Given the description of an element on the screen output the (x, y) to click on. 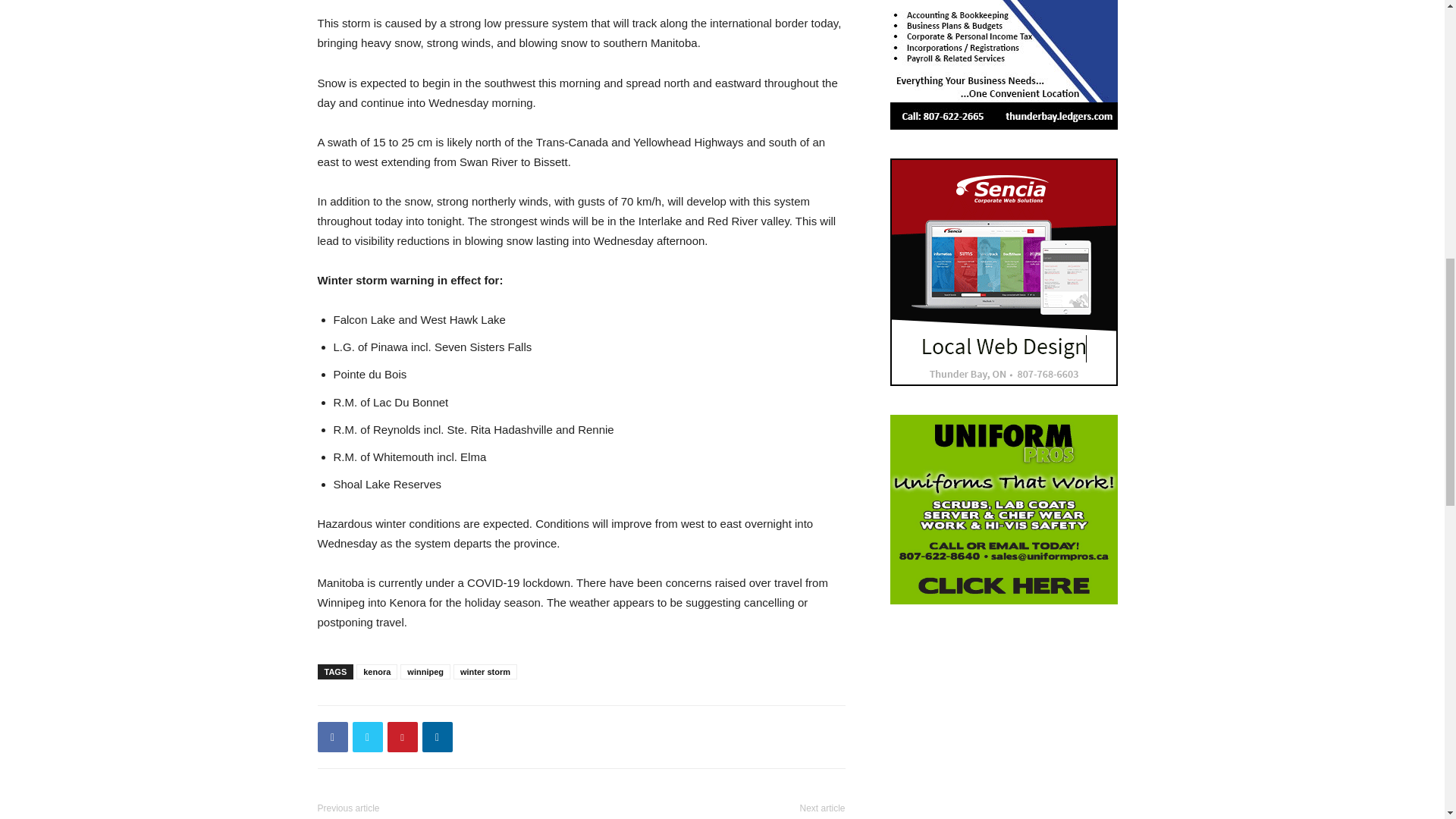
Twitter (366, 736)
Linkedin (436, 736)
Pinterest (401, 736)
Facebook (332, 736)
